Given the description of an element on the screen output the (x, y) to click on. 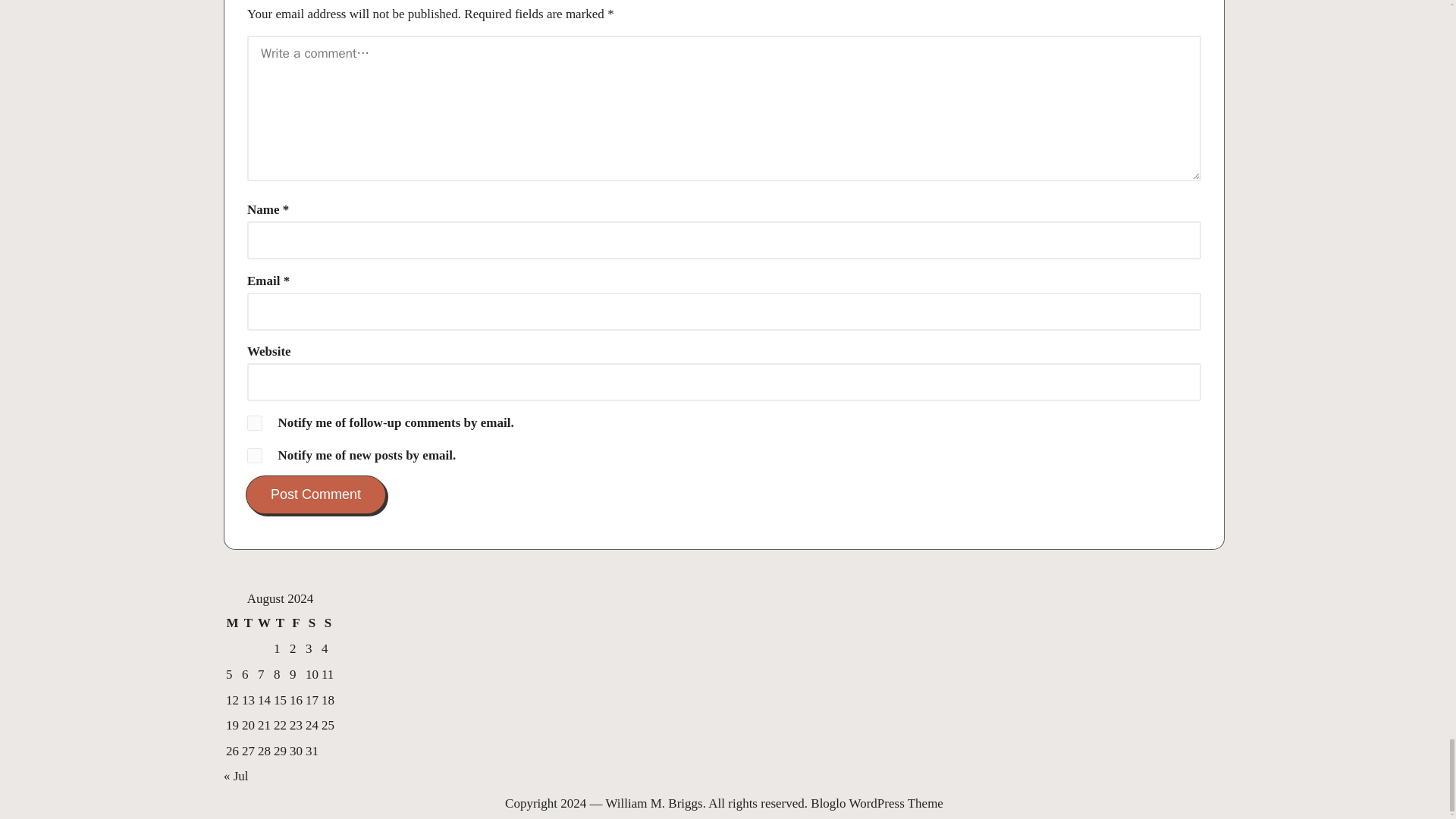
subscribe (254, 422)
Post Comment (315, 494)
subscribe (254, 455)
